Given the description of an element on the screen output the (x, y) to click on. 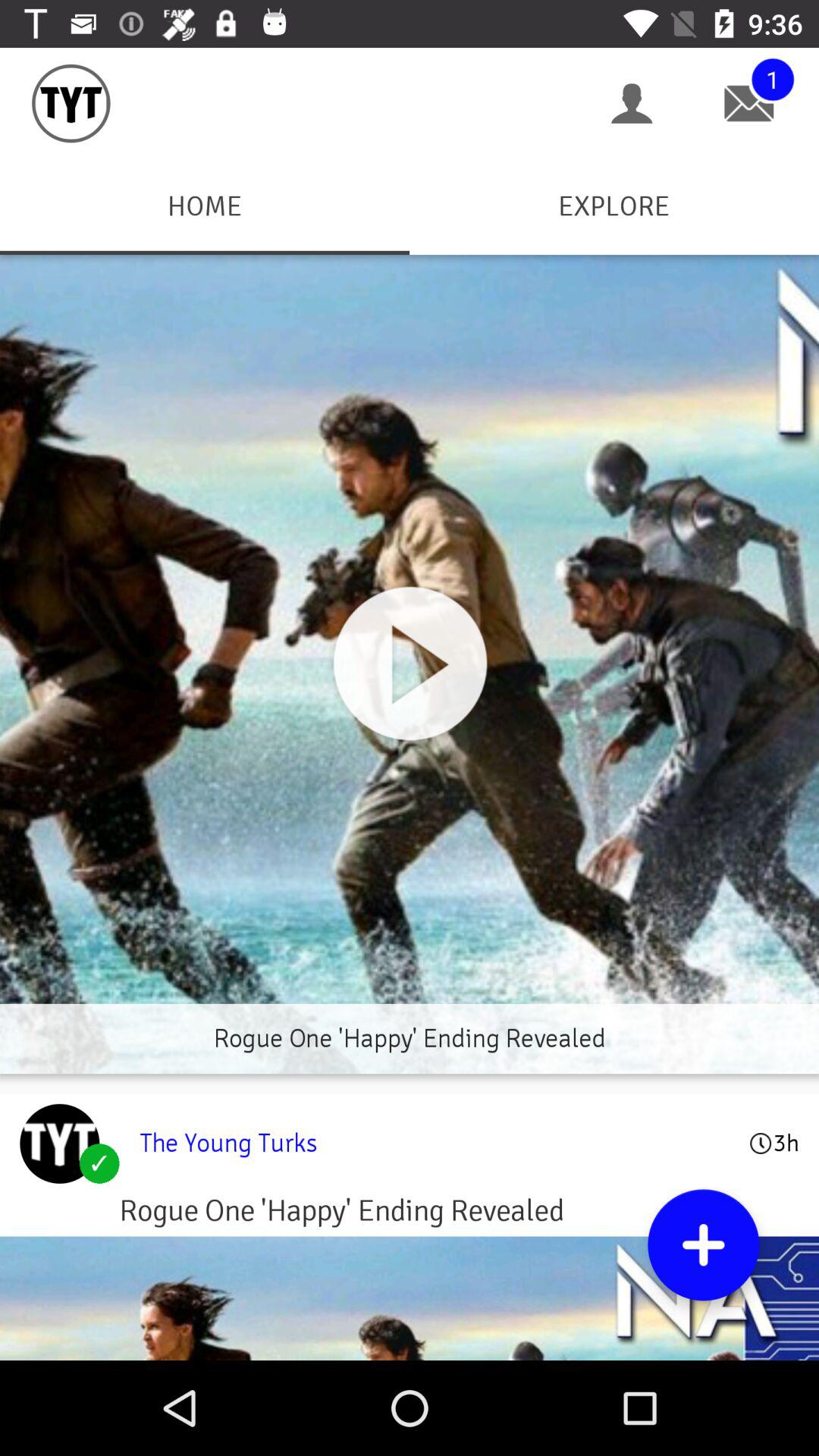
turn on item below the young turks item (703, 1244)
